Given the description of an element on the screen output the (x, y) to click on. 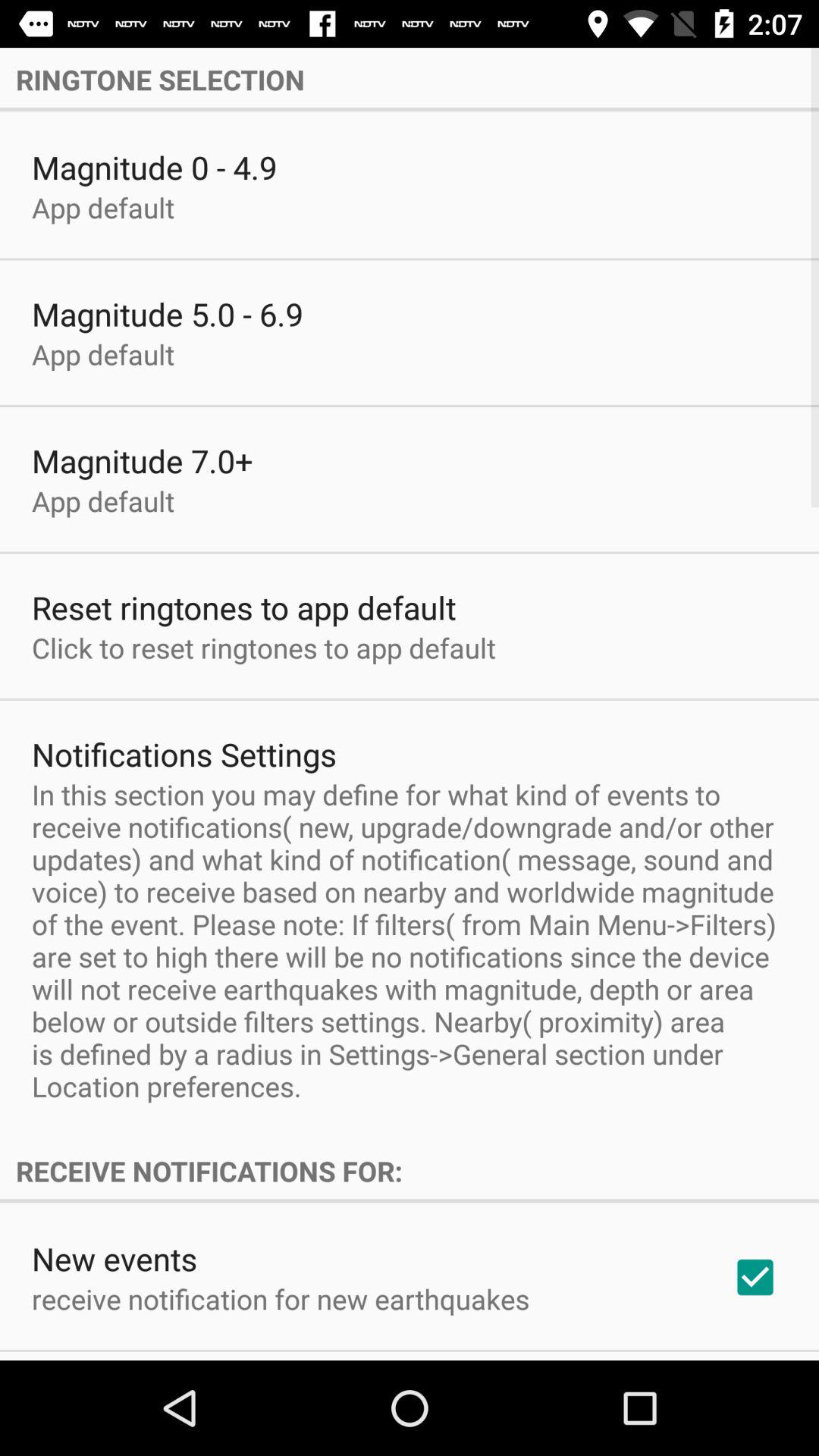
swipe until the ringtone selection icon (409, 79)
